Given the description of an element on the screen output the (x, y) to click on. 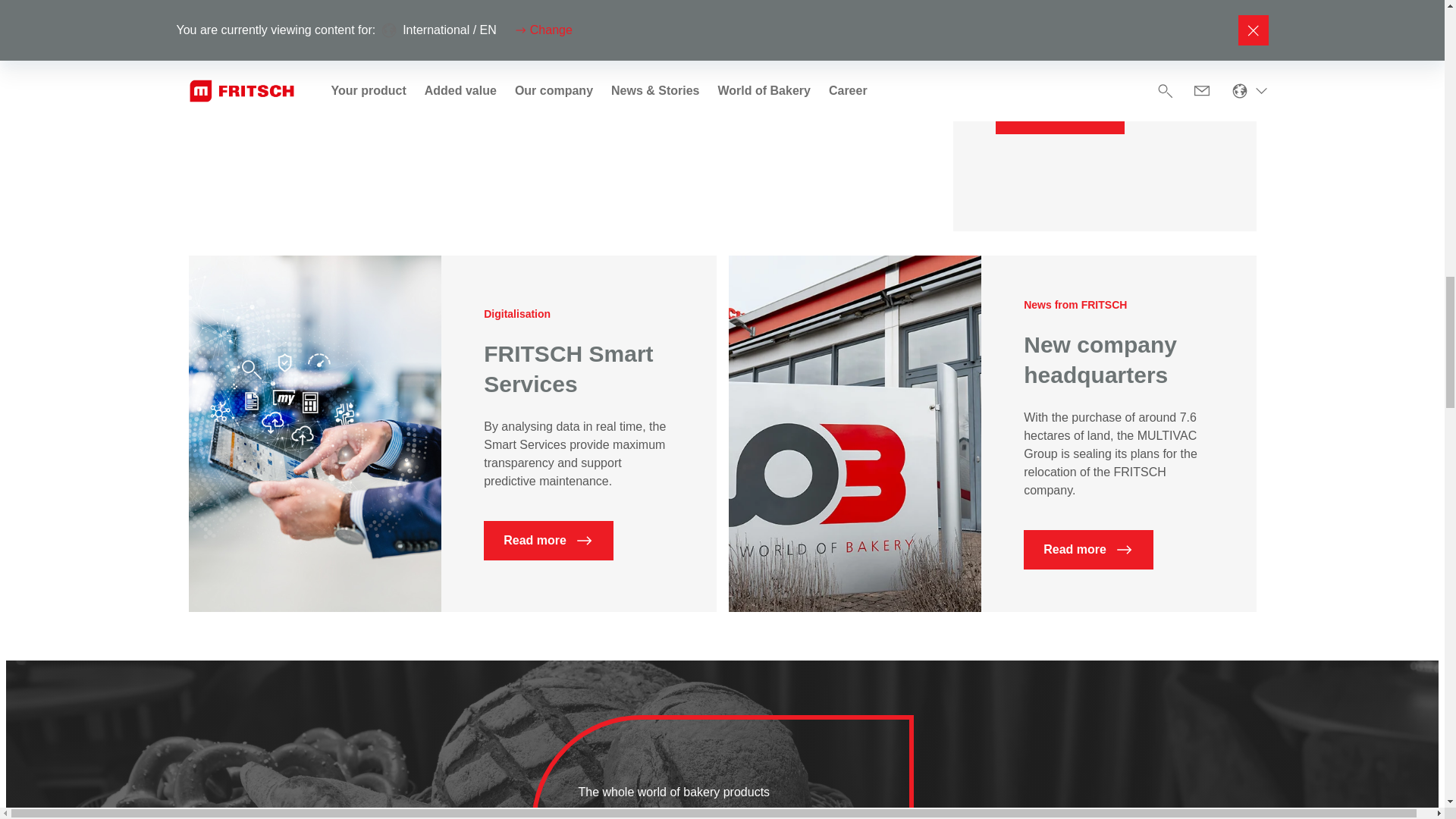
Read more (547, 540)
Read more (1059, 114)
